Given the description of an element on the screen output the (x, y) to click on. 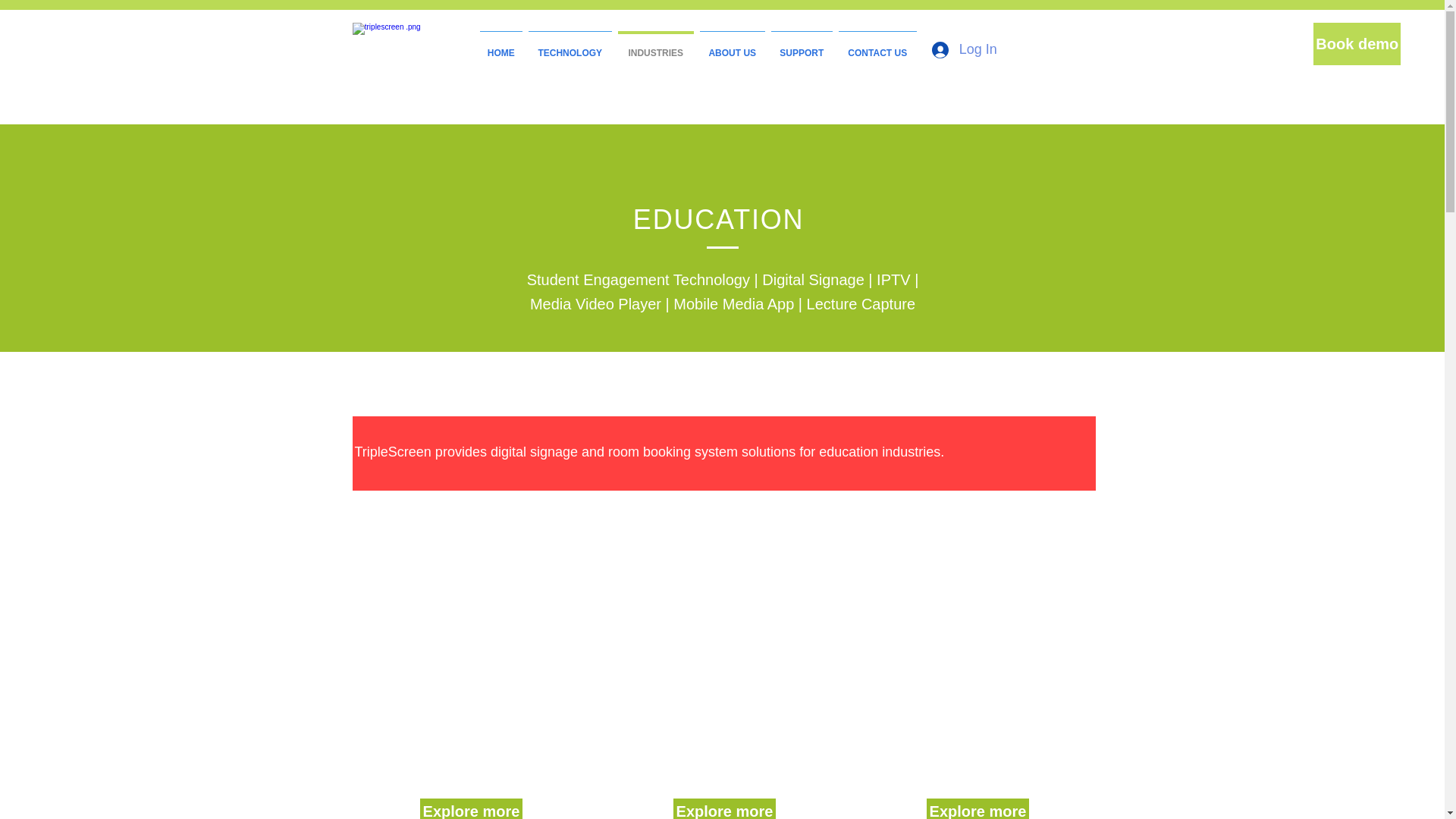
ABOUT US (732, 46)
Explore more (724, 808)
TECHNOLOGY (569, 46)
CONTACT US (877, 46)
INDUSTRIES (655, 46)
Book demo (1356, 43)
SUPPORT (801, 46)
HOME (501, 46)
Explore more (471, 808)
Explore more (977, 808)
Log In (964, 49)
